Given the description of an element on the screen output the (x, y) to click on. 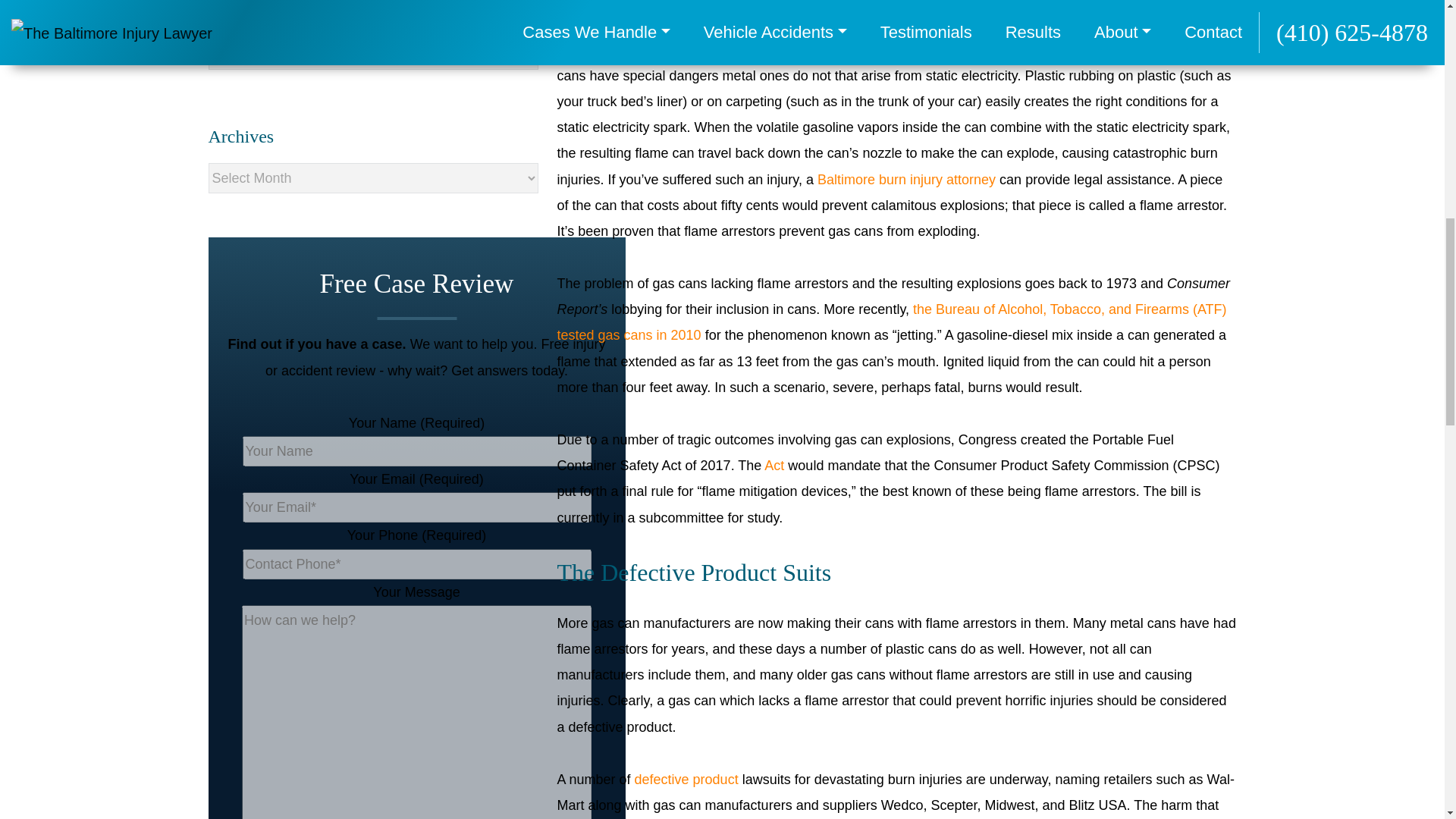
Act (774, 465)
defective product (686, 779)
Baltimore burn injury attorney (905, 178)
